Given the description of an element on the screen output the (x, y) to click on. 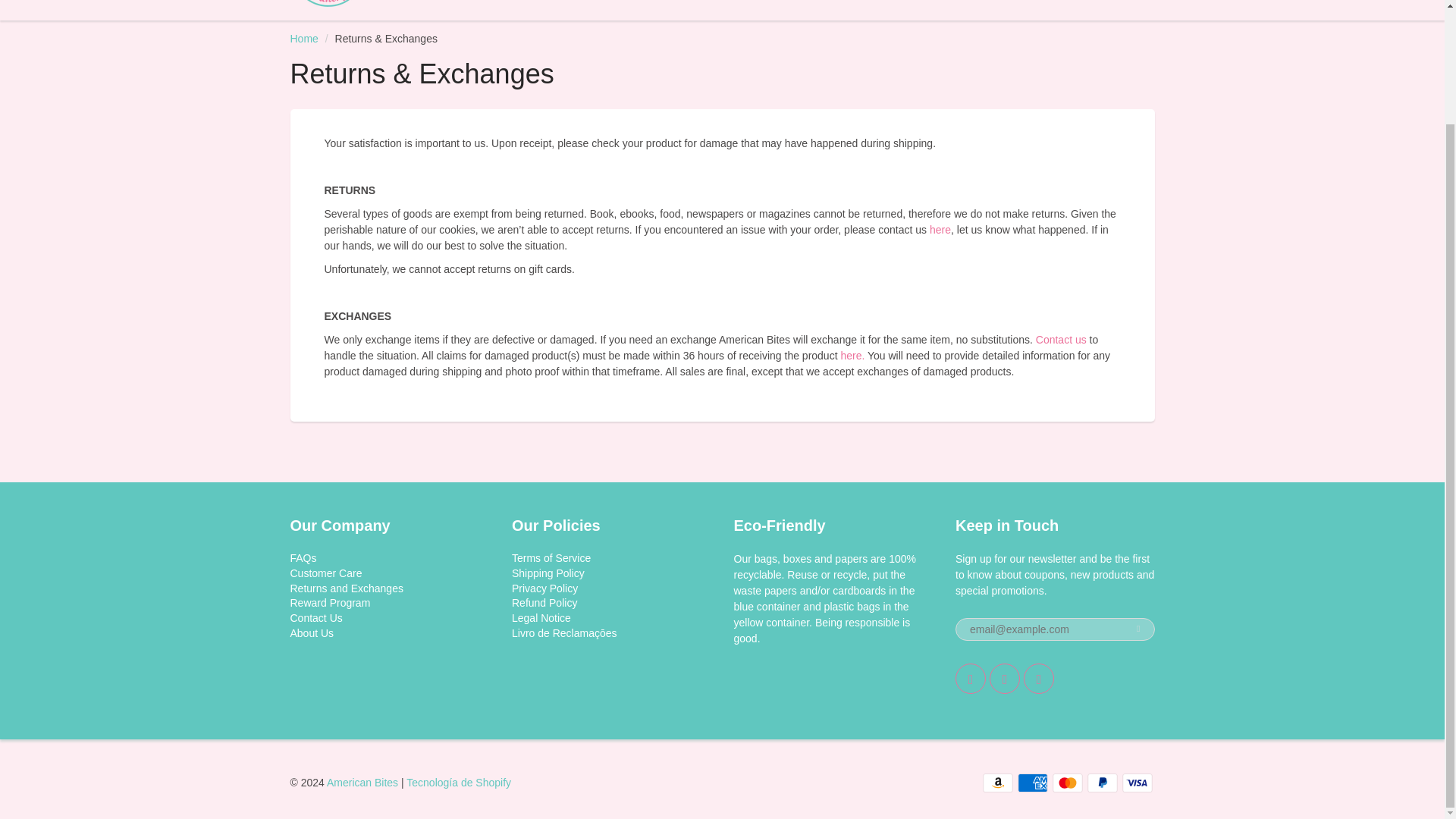
Returns and Exchanges (346, 587)
contact us (940, 229)
Home (303, 38)
Contact Us (315, 617)
Shipping Policy (548, 573)
GIFT CARDS (721, 9)
Customer Care (325, 573)
here (940, 229)
Facebook (1005, 678)
American Express (1032, 782)
ABOUT US (821, 9)
Legal Notice (541, 617)
Contact us (1060, 339)
Terms of Service (551, 558)
FAQs (302, 558)
